Given the description of an element on the screen output the (x, y) to click on. 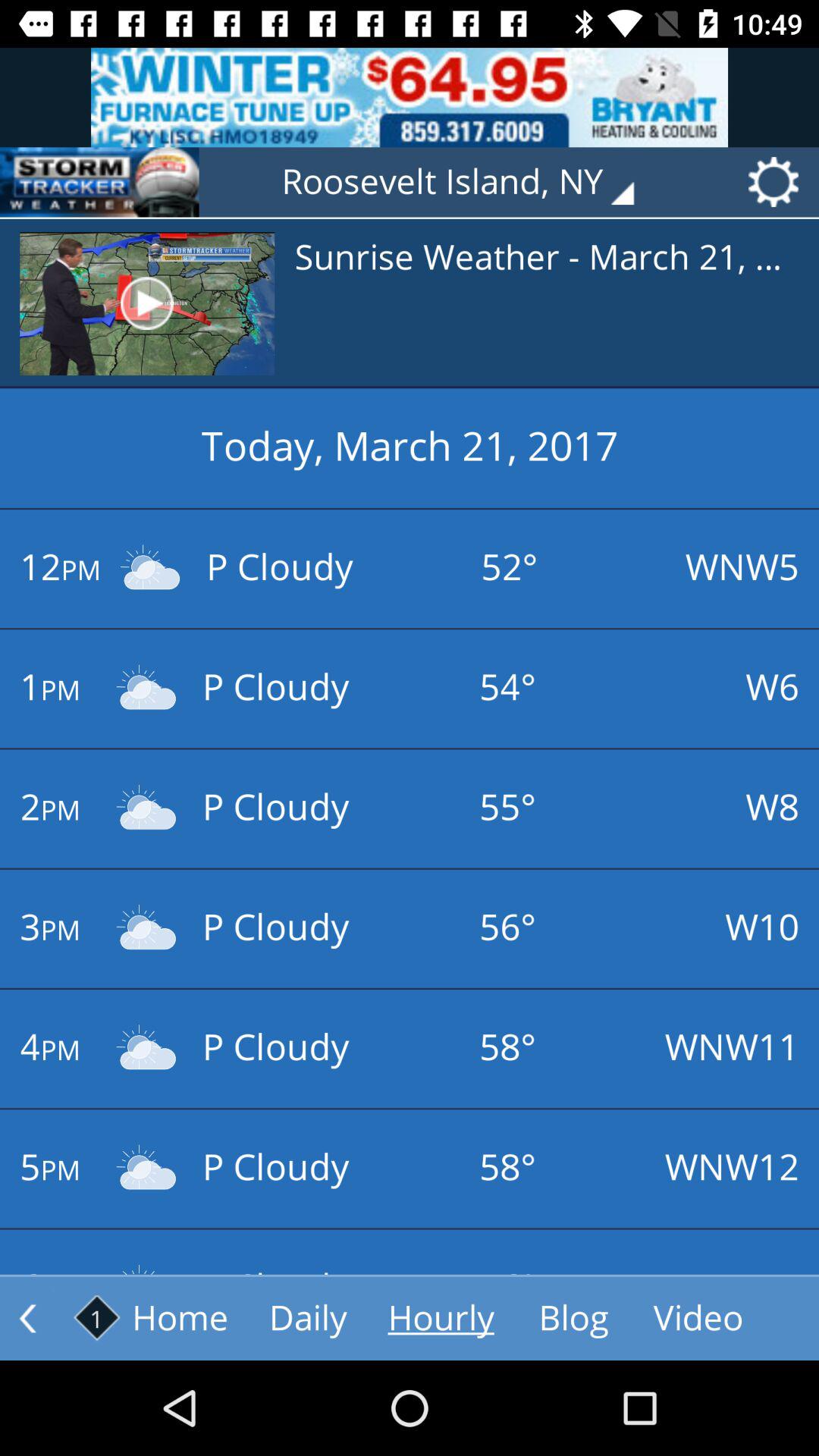
go to previous (27, 1318)
